Given the description of an element on the screen output the (x, y) to click on. 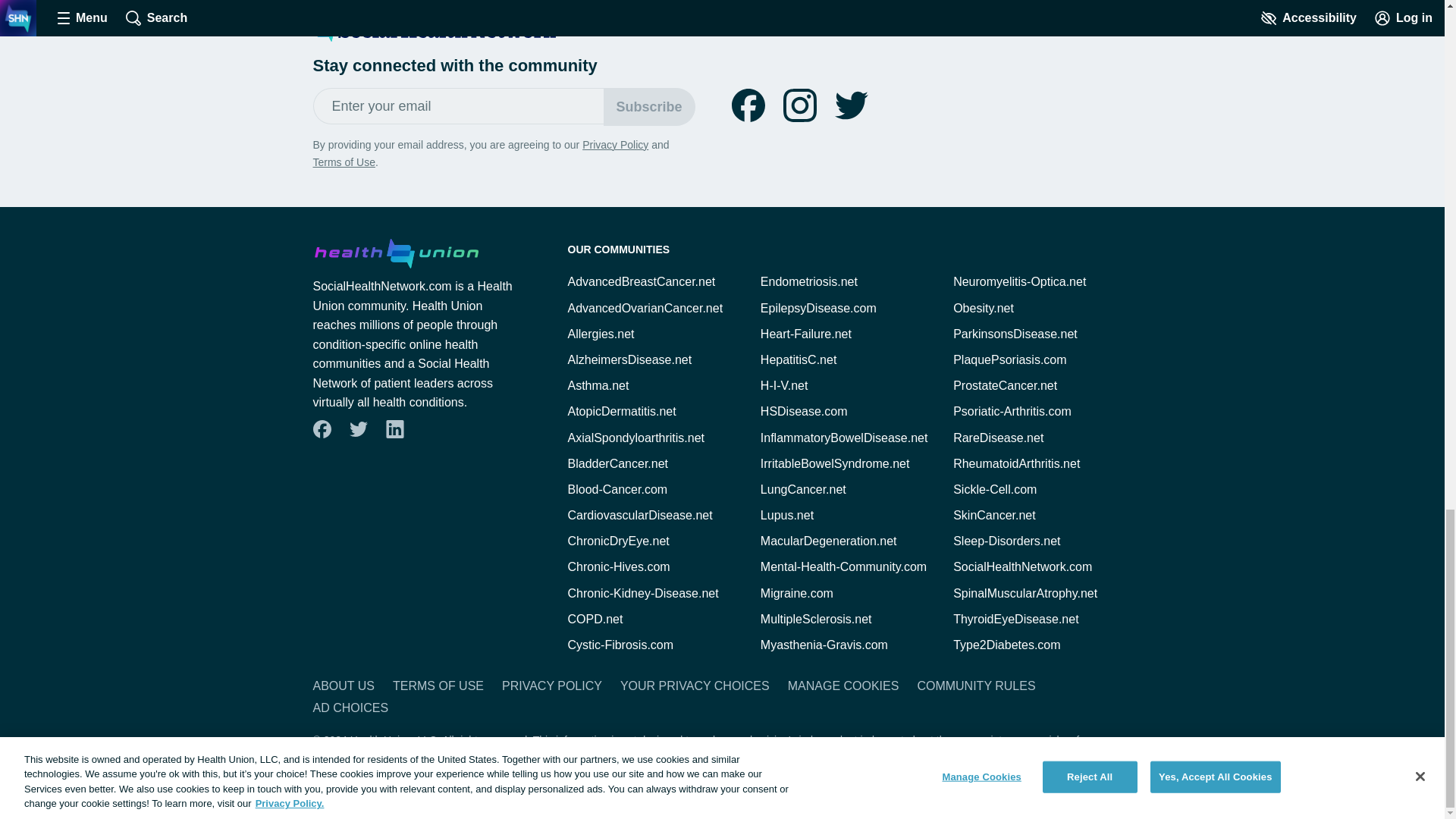
Follow us on linkedin (394, 429)
Follow us on twitter (850, 105)
Follow us on facebook (321, 429)
Follow us on instagram (799, 105)
Follow us on twitter (357, 429)
Follow us on facebook (747, 105)
